Given the description of an element on the screen output the (x, y) to click on. 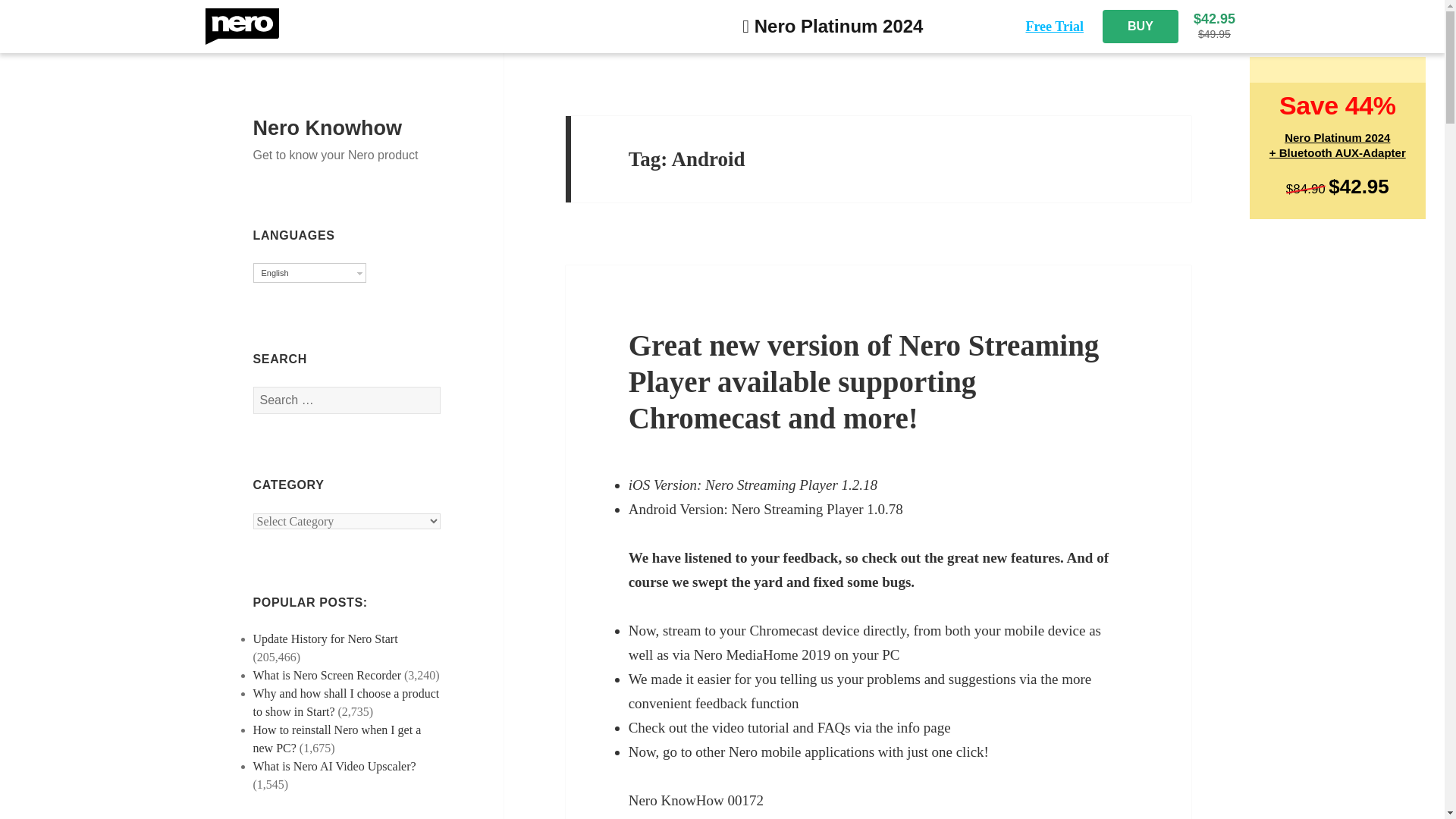
Nero Knowhow (328, 128)
What is Nero Screen Recorder (327, 675)
What is Nero Screen Recorder (327, 675)
What is Nero AI Video Upscaler? (334, 766)
How to reinstall Nero when I get a new PC? (337, 738)
Why and how shall I choose a product to show in Start? (346, 702)
Nero Knowhow (328, 128)
Update History for Nero Start (325, 638)
Free Trial (1054, 26)
Free Trial (1054, 26)
English (1139, 26)
Why and how shall I choose a product to show in Start? (309, 272)
